Given the description of an element on the screen output the (x, y) to click on. 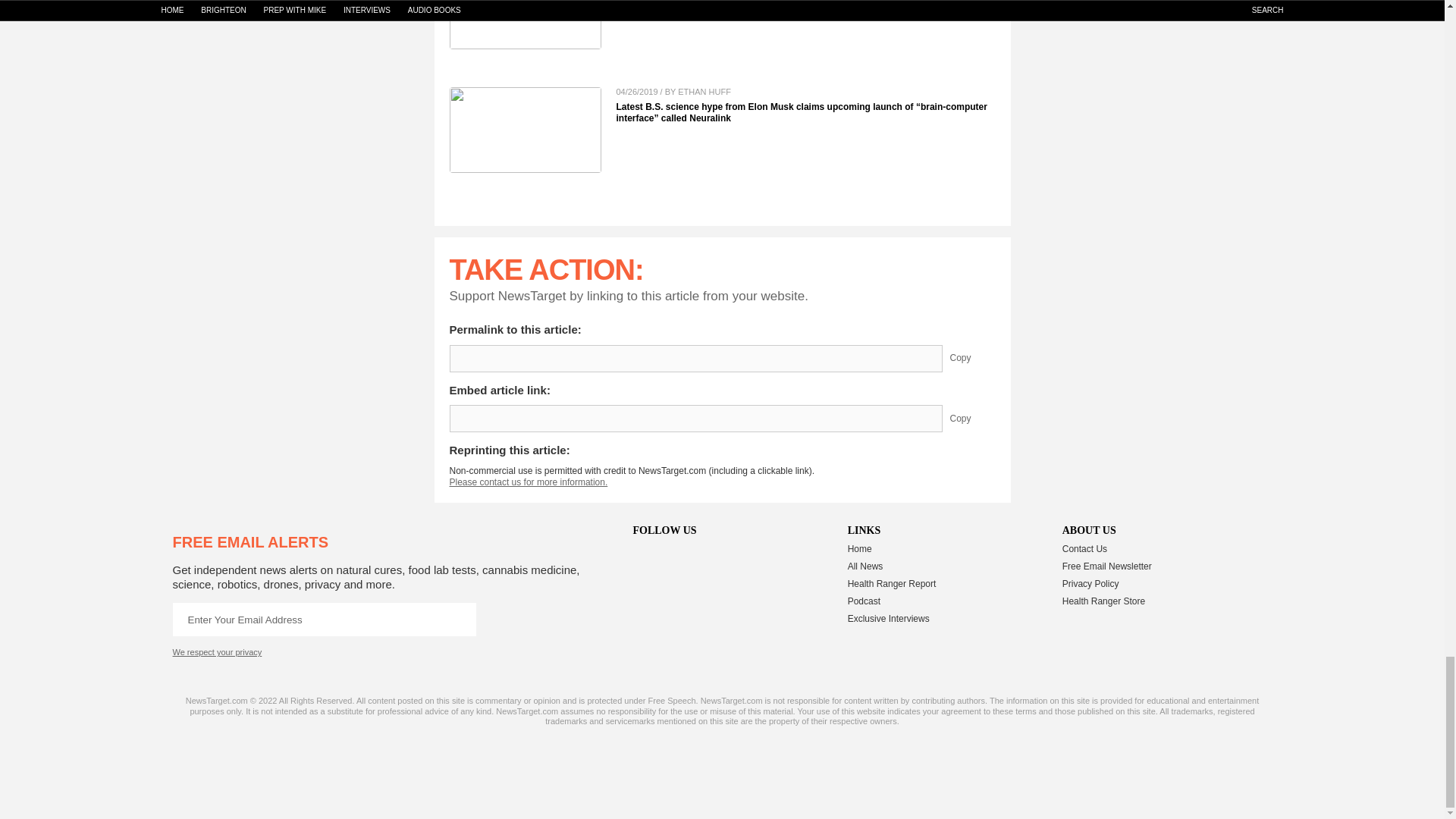
Continue (459, 619)
Copy Embed Link (971, 418)
Copy Permalink (971, 358)
